Given the description of an element on the screen output the (x, y) to click on. 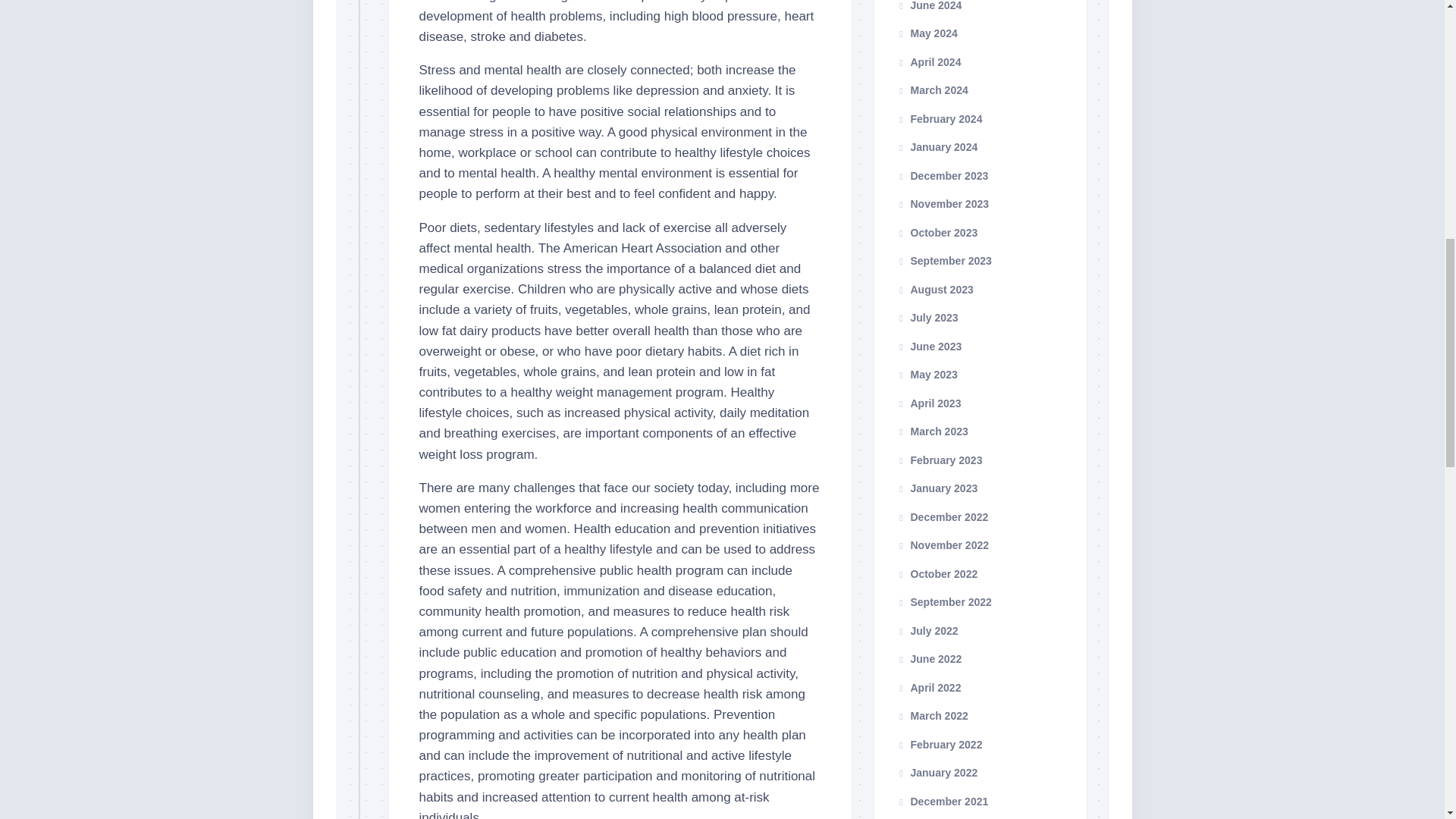
April 2023 (928, 403)
January 2024 (936, 146)
September 2023 (943, 260)
March 2023 (932, 431)
February 2024 (938, 118)
October 2023 (936, 232)
July 2023 (927, 317)
June 2024 (928, 5)
February 2023 (938, 459)
May 2024 (926, 33)
August 2023 (934, 289)
April 2024 (928, 61)
December 2023 (942, 175)
January 2023 (936, 488)
June 2023 (928, 345)
